Given the description of an element on the screen output the (x, y) to click on. 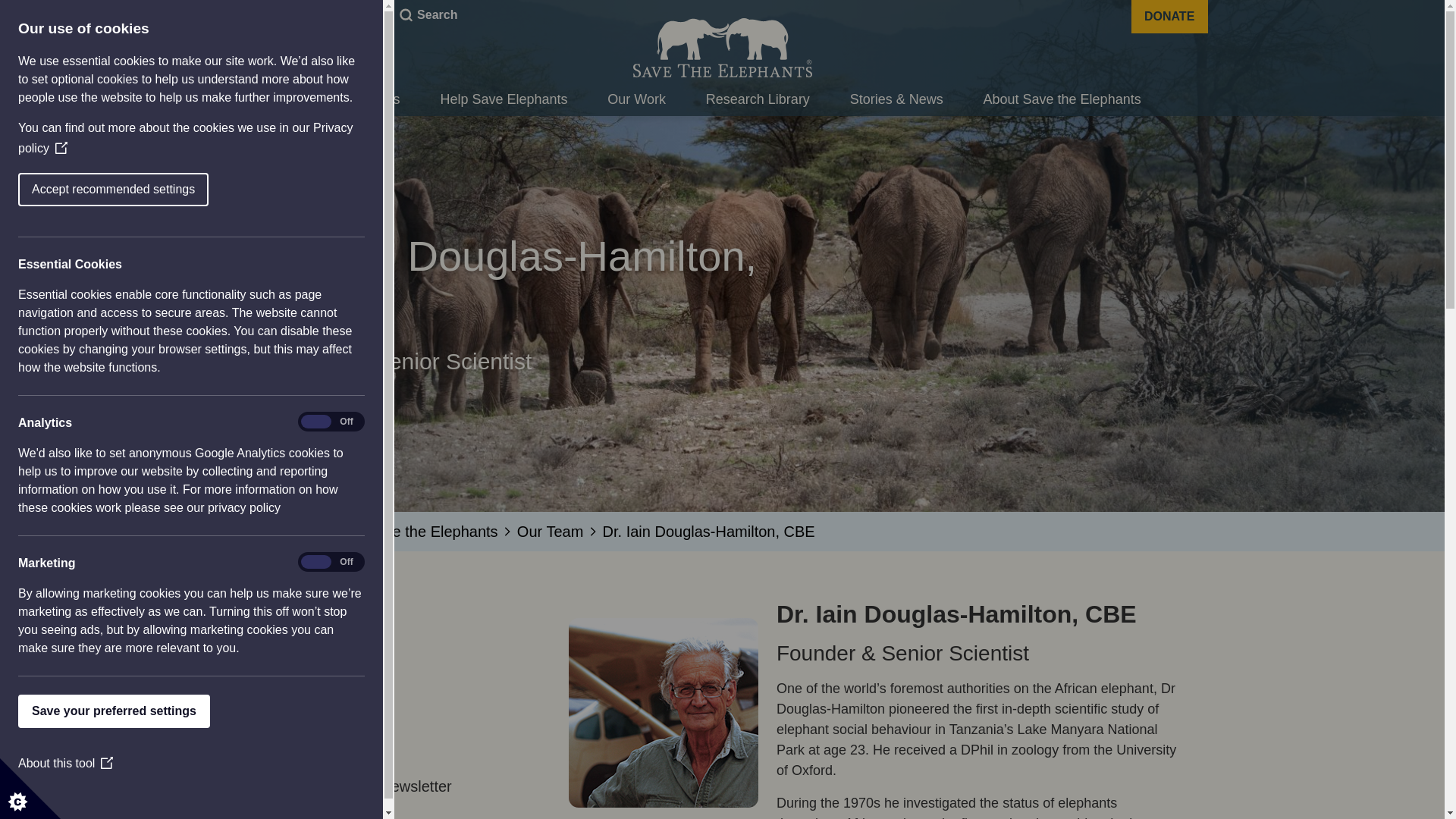
Search submit (403, 15)
Save the Elephants (720, 47)
About Elephants (349, 99)
Help Save Elephants (503, 99)
Our Work (636, 99)
Research Library (757, 99)
About Save the Elephants (1062, 99)
